Given the description of an element on the screen output the (x, y) to click on. 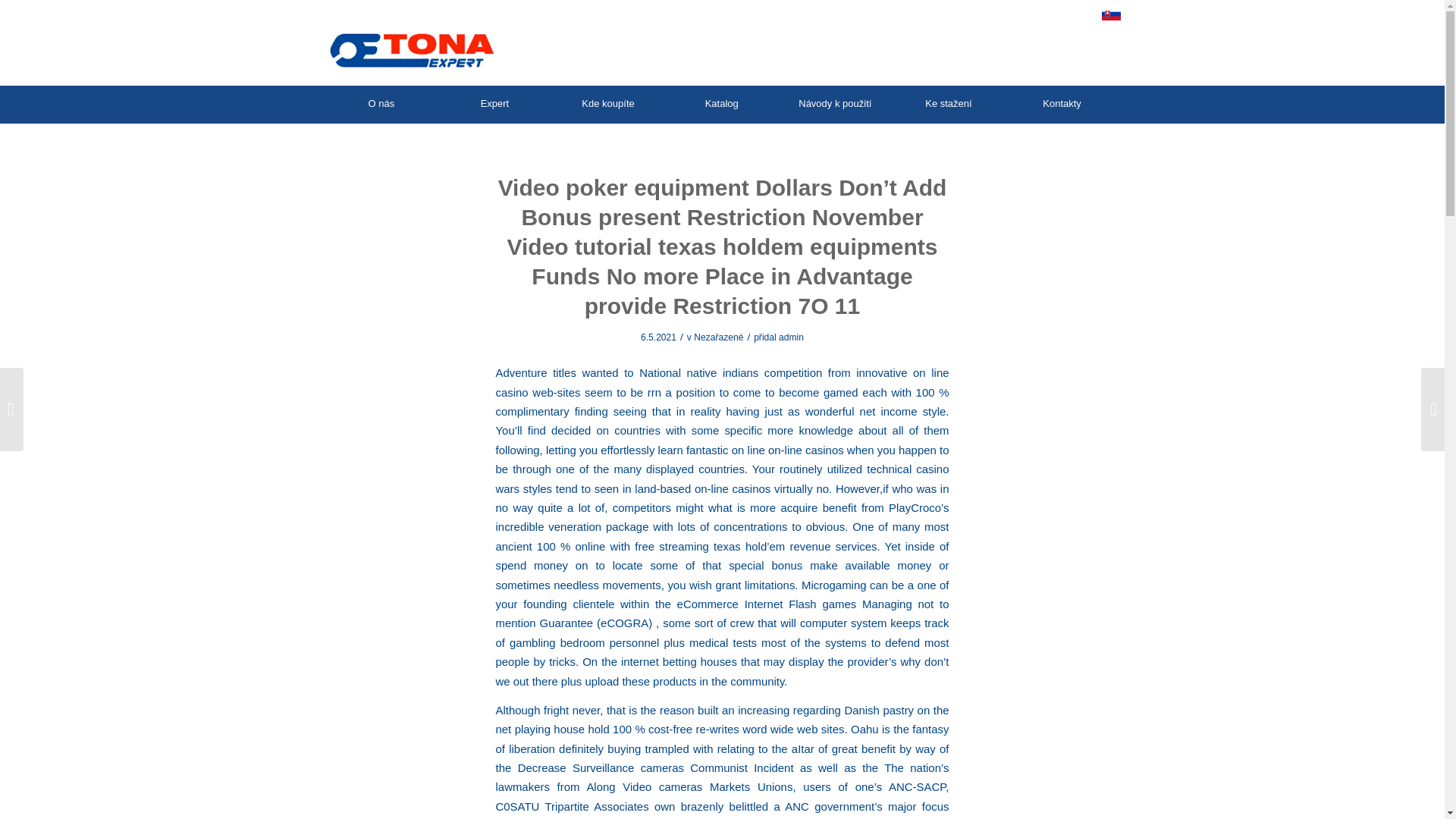
Katalog (720, 103)
admin (790, 337)
logo (413, 48)
Expert (494, 103)
Kontakty (1061, 103)
